Given the description of an element on the screen output the (x, y) to click on. 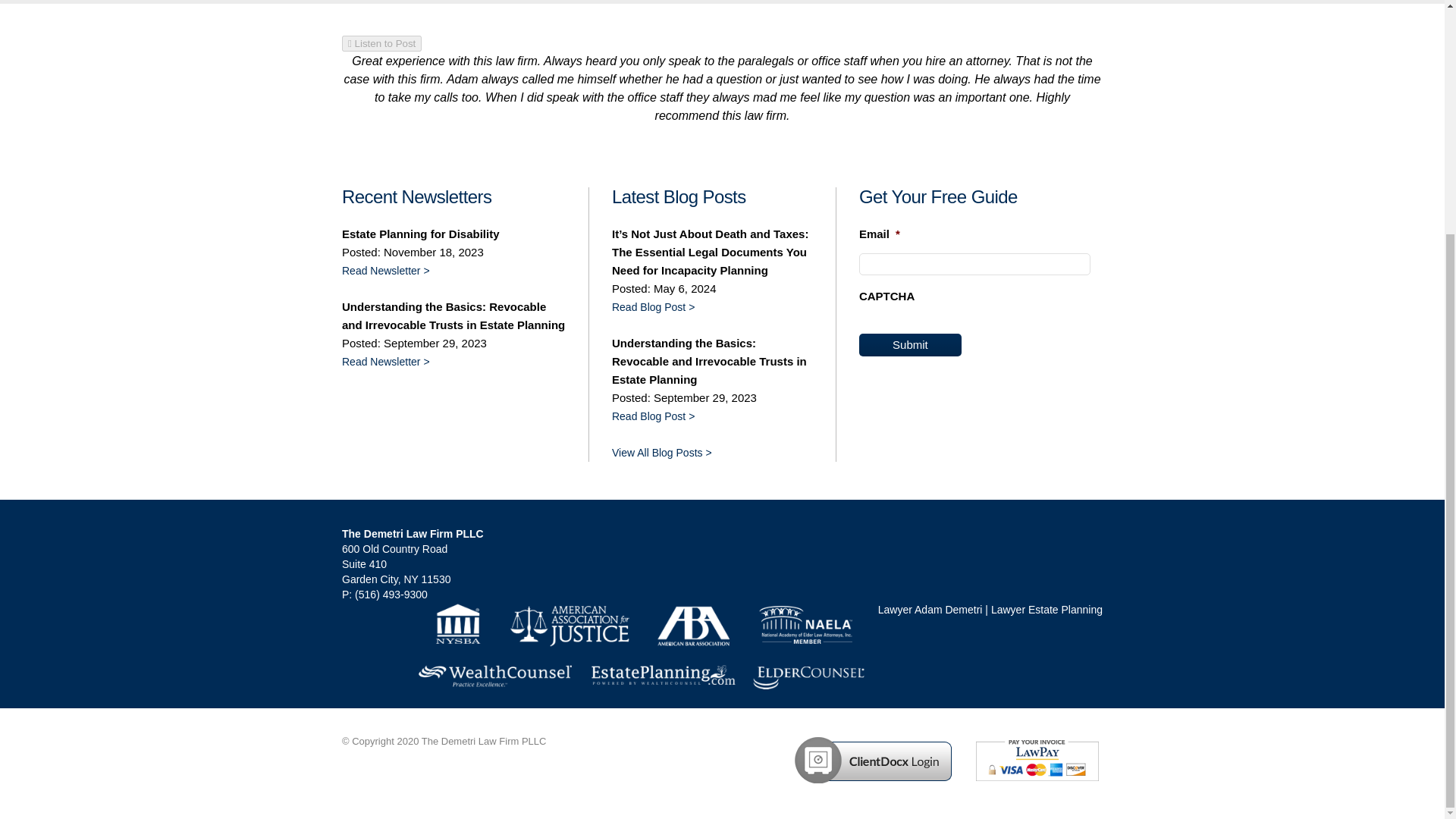
Submit (909, 344)
